Given the description of an element on the screen output the (x, y) to click on. 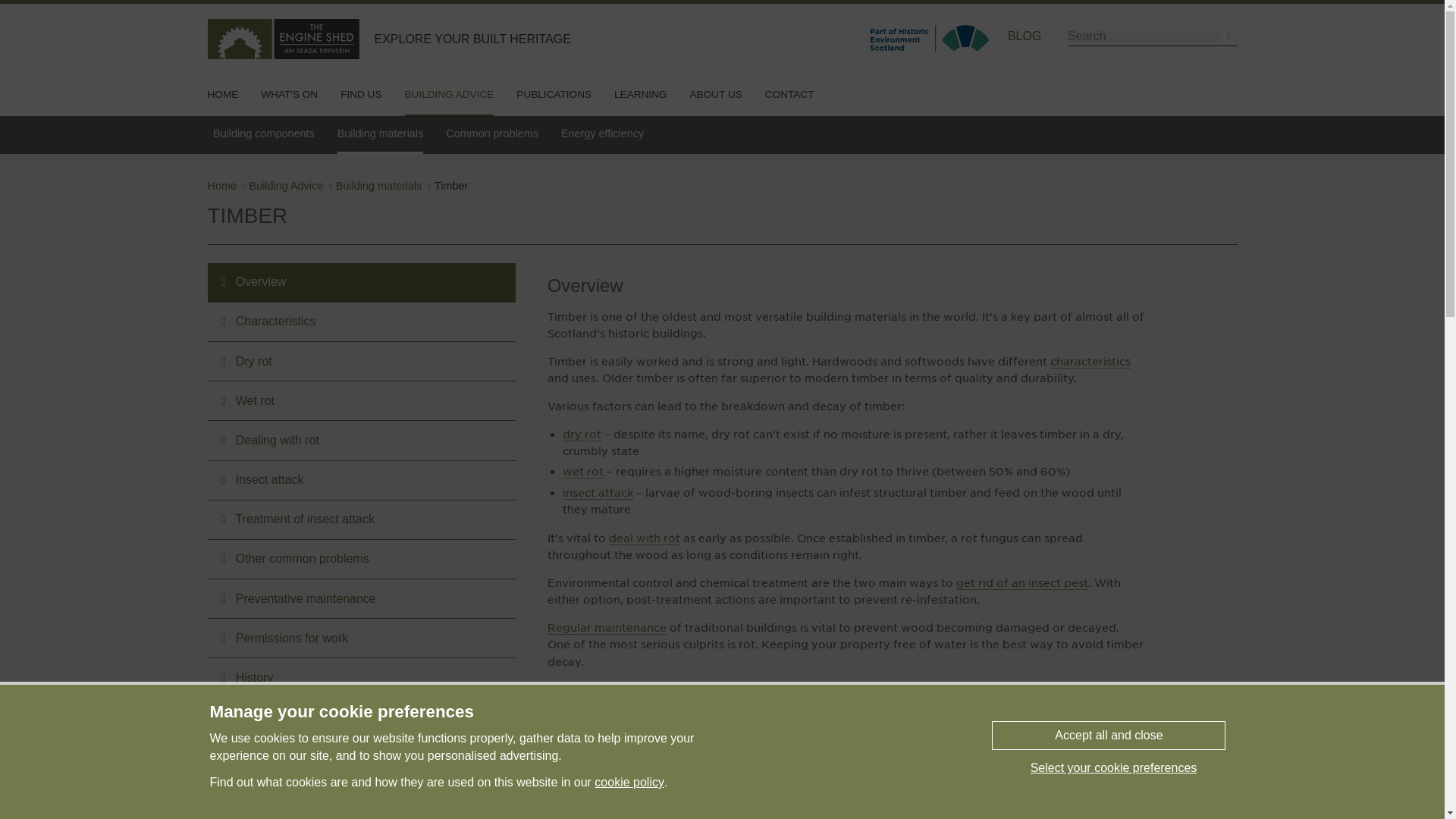
PUBLICATIONS (553, 94)
Characteristics (1090, 361)
Treatment of insect attack (1021, 582)
Building materials (380, 134)
Dealing with rot (643, 538)
Engine Shed Home (223, 94)
Dry rot (581, 434)
LEARNING (640, 94)
cookie policy (628, 782)
Energy efficiency (601, 133)
BUILDING ADVICE (449, 96)
ABOUT US (716, 94)
Wet rot (583, 471)
Select your cookie preferences (1112, 768)
Building components (263, 133)
